Given the description of an element on the screen output the (x, y) to click on. 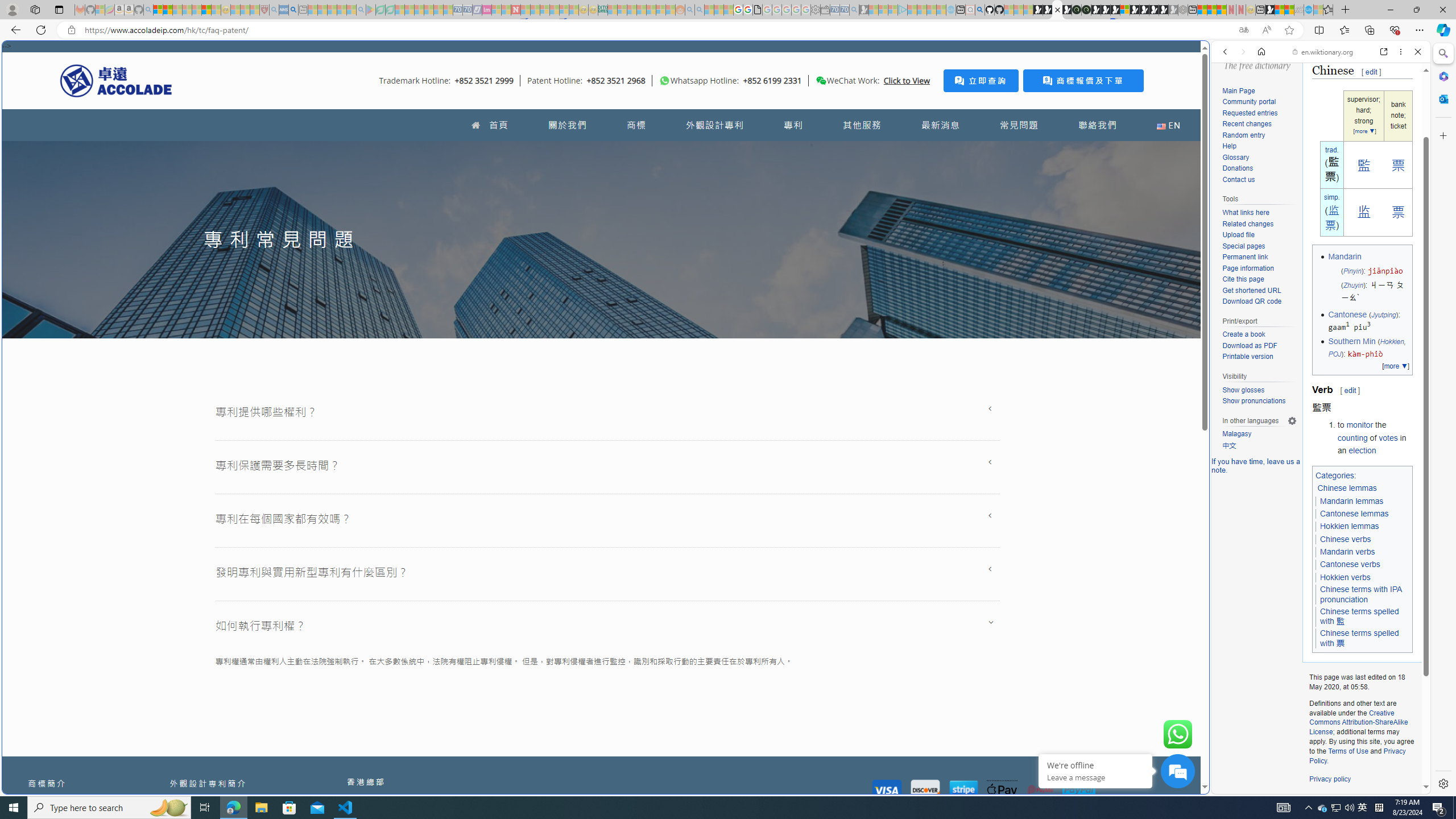
What links here (1259, 212)
Permanent link (1259, 257)
Play Free Online Games | Games from Microsoft Start (1144, 9)
Hokkien verbs (1345, 576)
Disclaimers (1385, 799)
utah sues federal government - Search (922, 389)
monitor (1359, 424)
MSN (1269, 9)
